Given the description of an element on the screen output the (x, y) to click on. 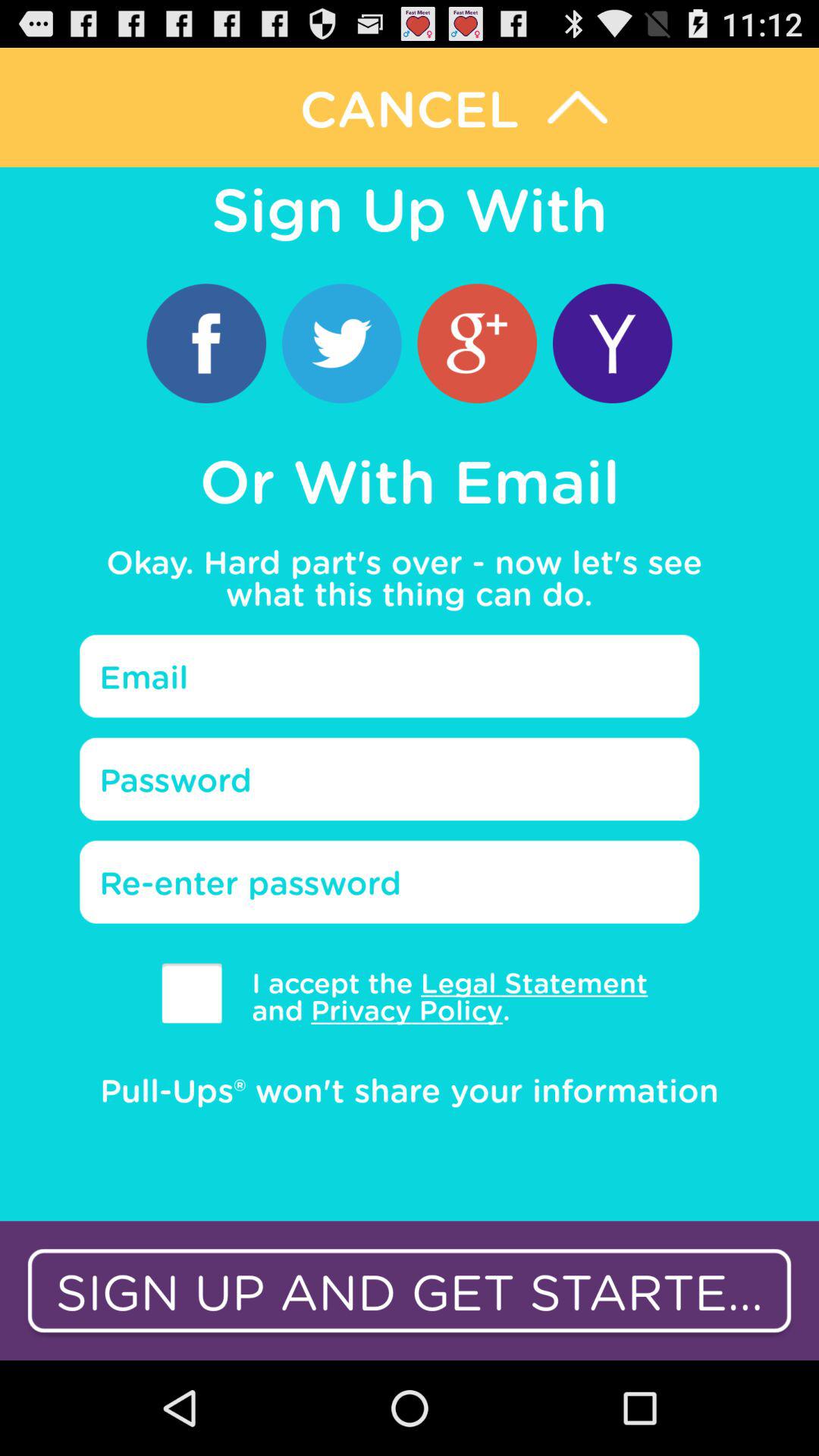
text box (389, 778)
